Given the description of an element on the screen output the (x, y) to click on. 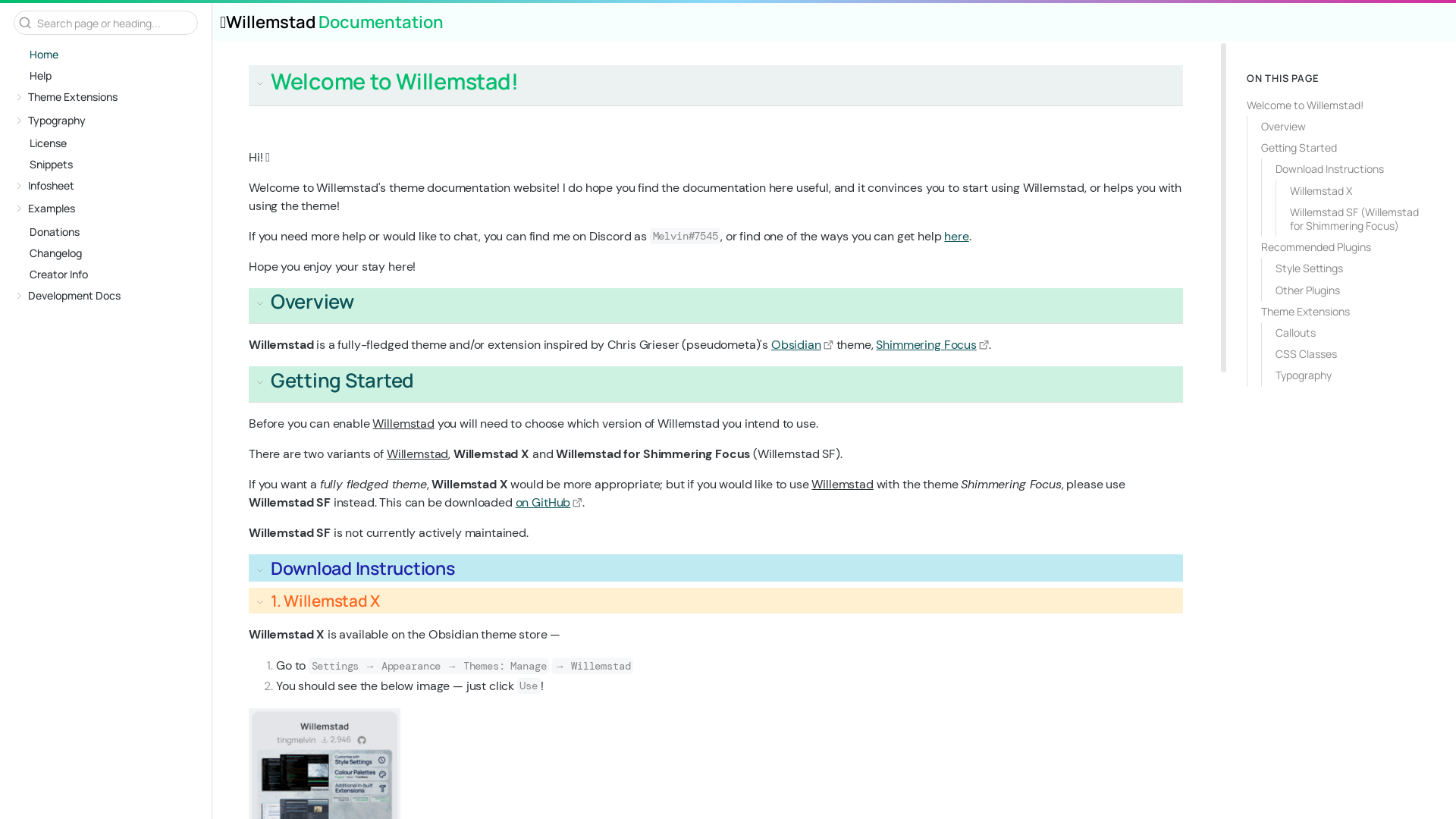
here Element type: text (956, 236)
on GitHub Element type: text (549, 502)
Snippets Element type: text (109, 164)
License Element type: text (109, 142)
Changelog Element type: text (109, 252)
Creator Info Element type: text (109, 274)
Help Element type: text (109, 75)
Shimmering Focus Element type: text (931, 344)
Donations Element type: text (109, 231)
Obsidian Element type: text (802, 344)
Willemstad Element type: text (833, 22)
Home Element type: text (109, 54)
